Given the description of an element on the screen output the (x, y) to click on. 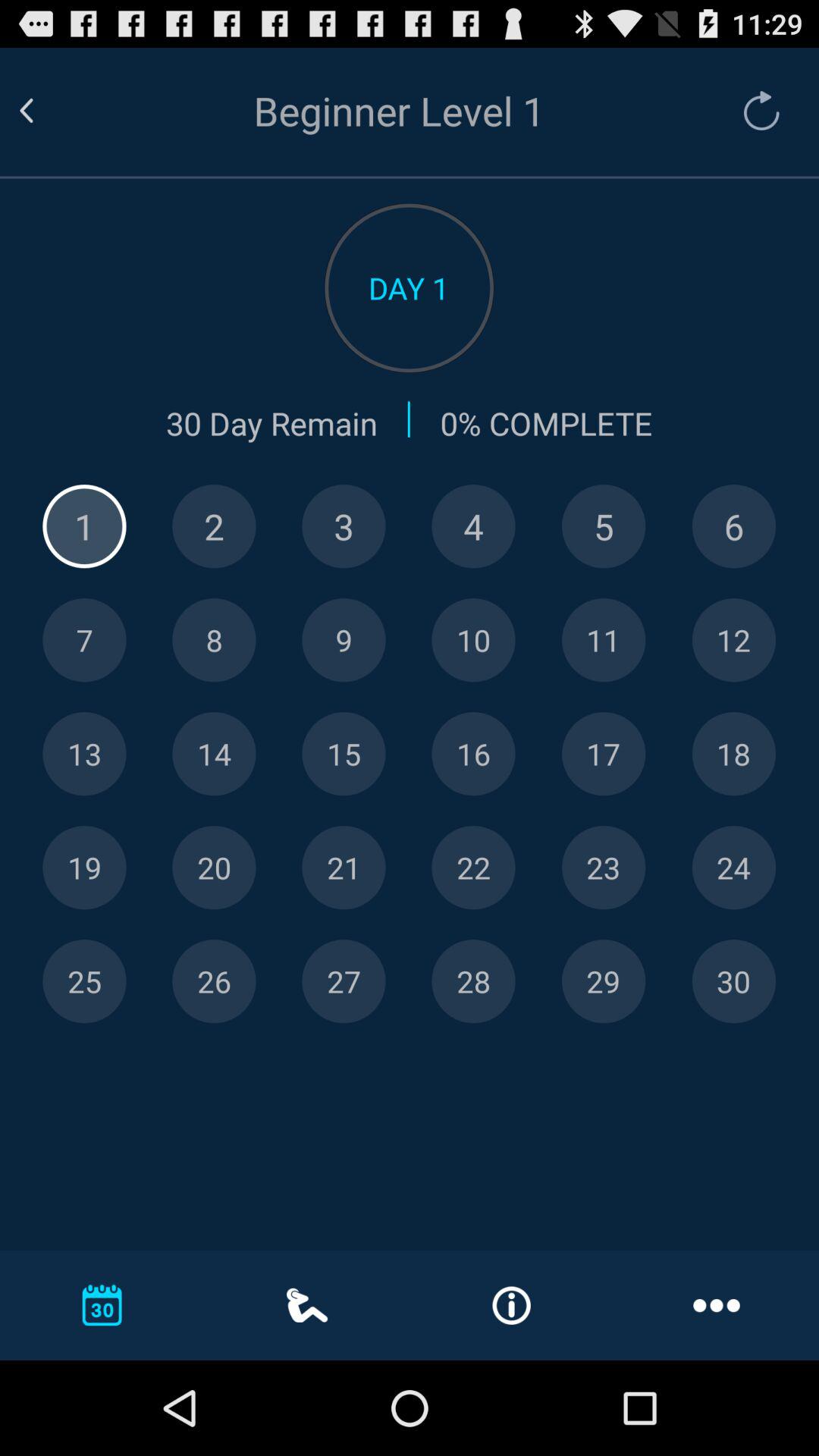
final day (733, 981)
